Given the description of an element on the screen output the (x, y) to click on. 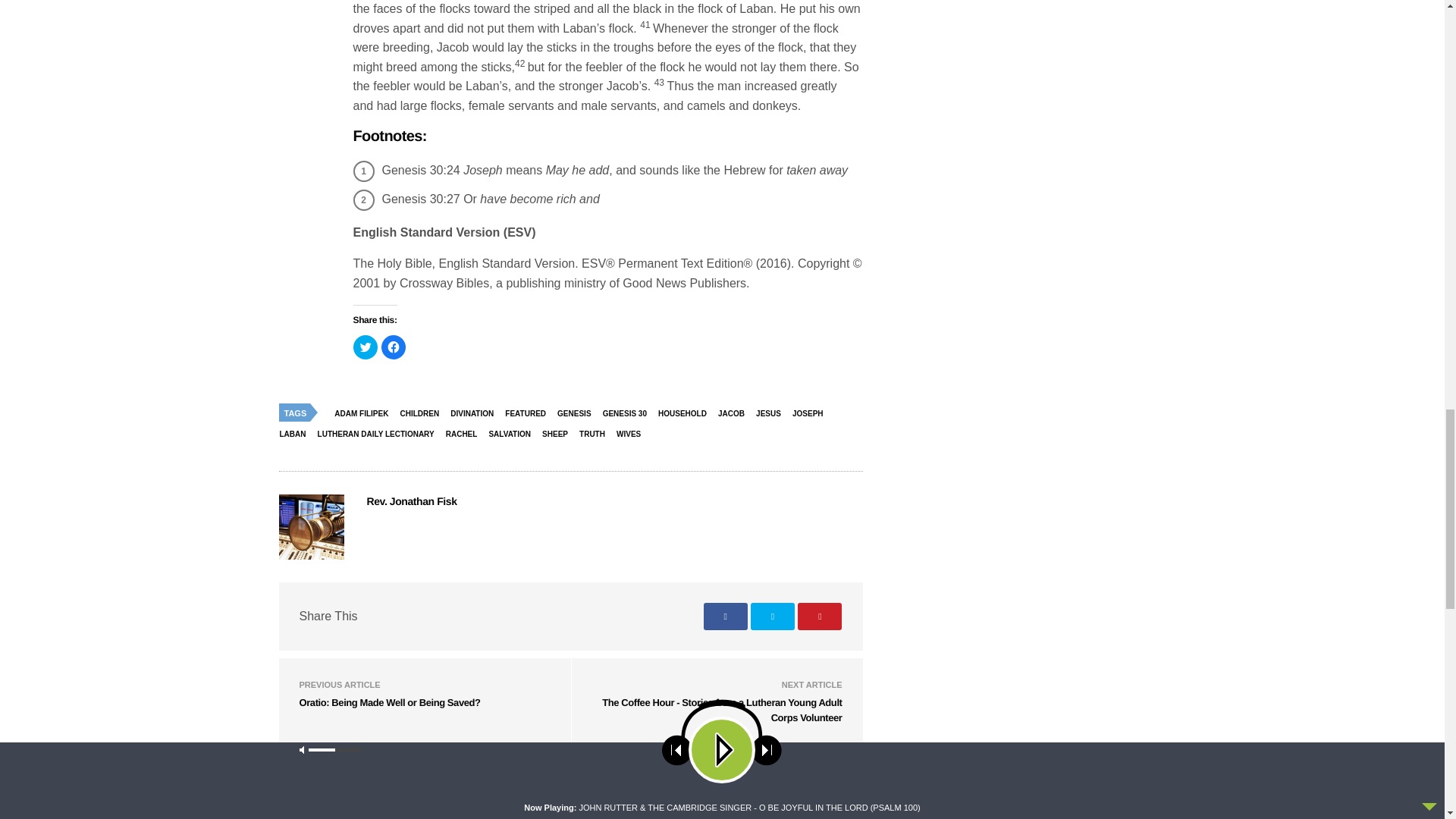
Click to share on Facebook (392, 346)
Click to share on Twitter (365, 346)
